Given the description of an element on the screen output the (x, y) to click on. 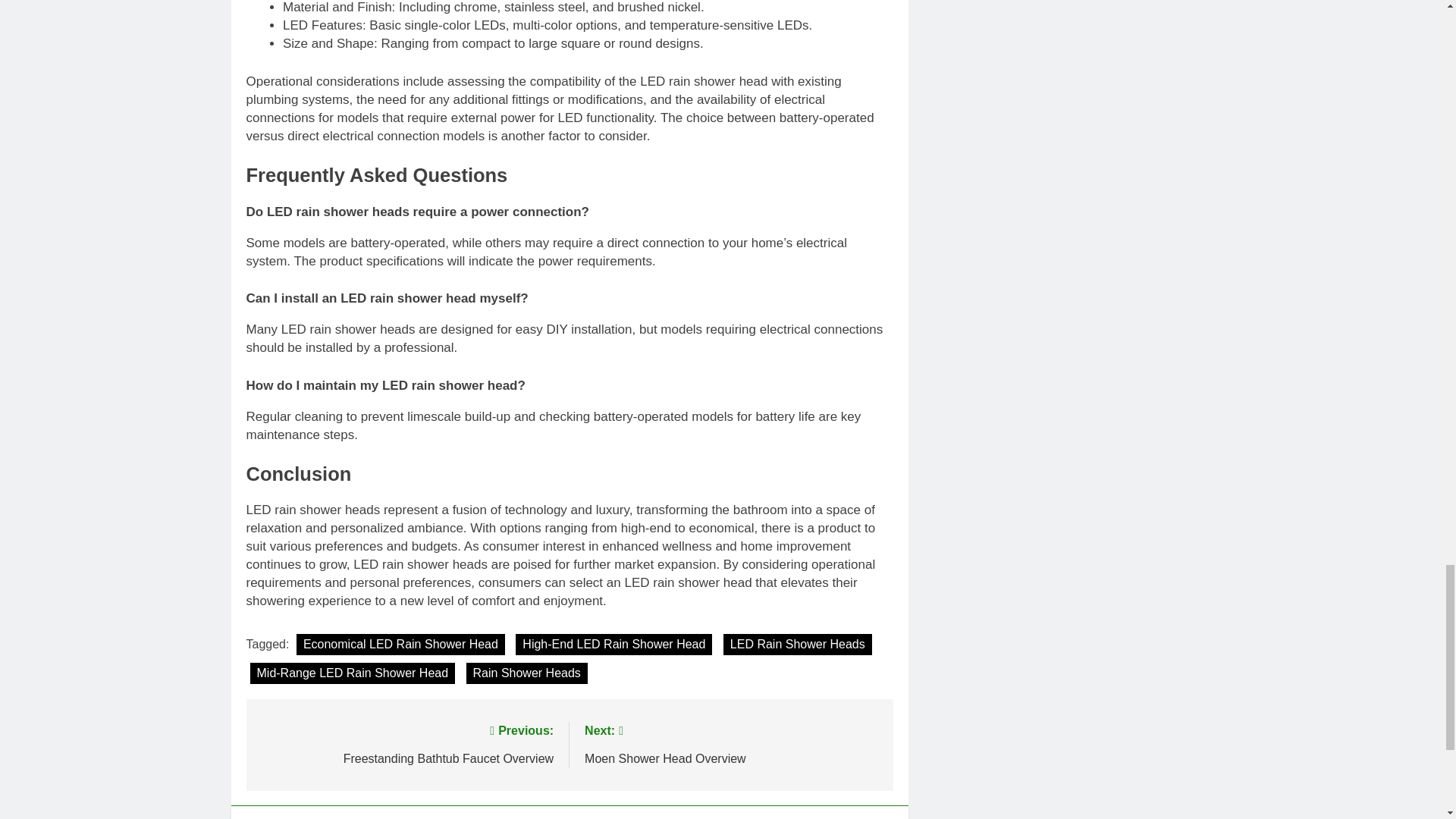
Economical LED Rain Shower Head (401, 644)
